Given the description of an element on the screen output the (x, y) to click on. 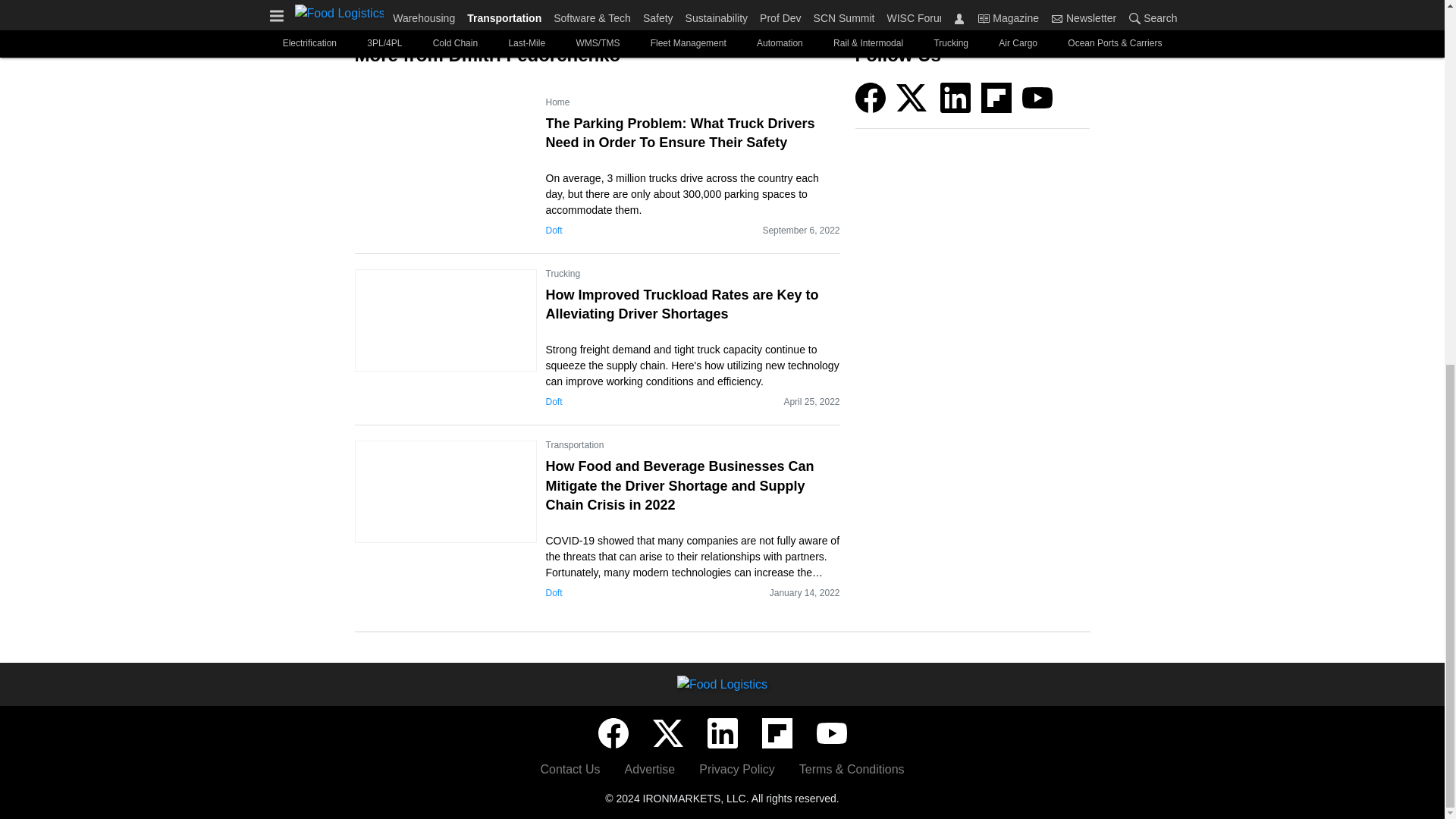
YouTube icon (830, 733)
Twitter X icon (911, 97)
Visit us on Linkedin (955, 96)
Home (558, 102)
YouTube icon (1037, 97)
LinkedIn icon (955, 97)
Visit us on Facebook (870, 96)
Transportation (575, 444)
Twitter X icon (667, 733)
Flipboard icon (996, 97)
